Given the description of an element on the screen output the (x, y) to click on. 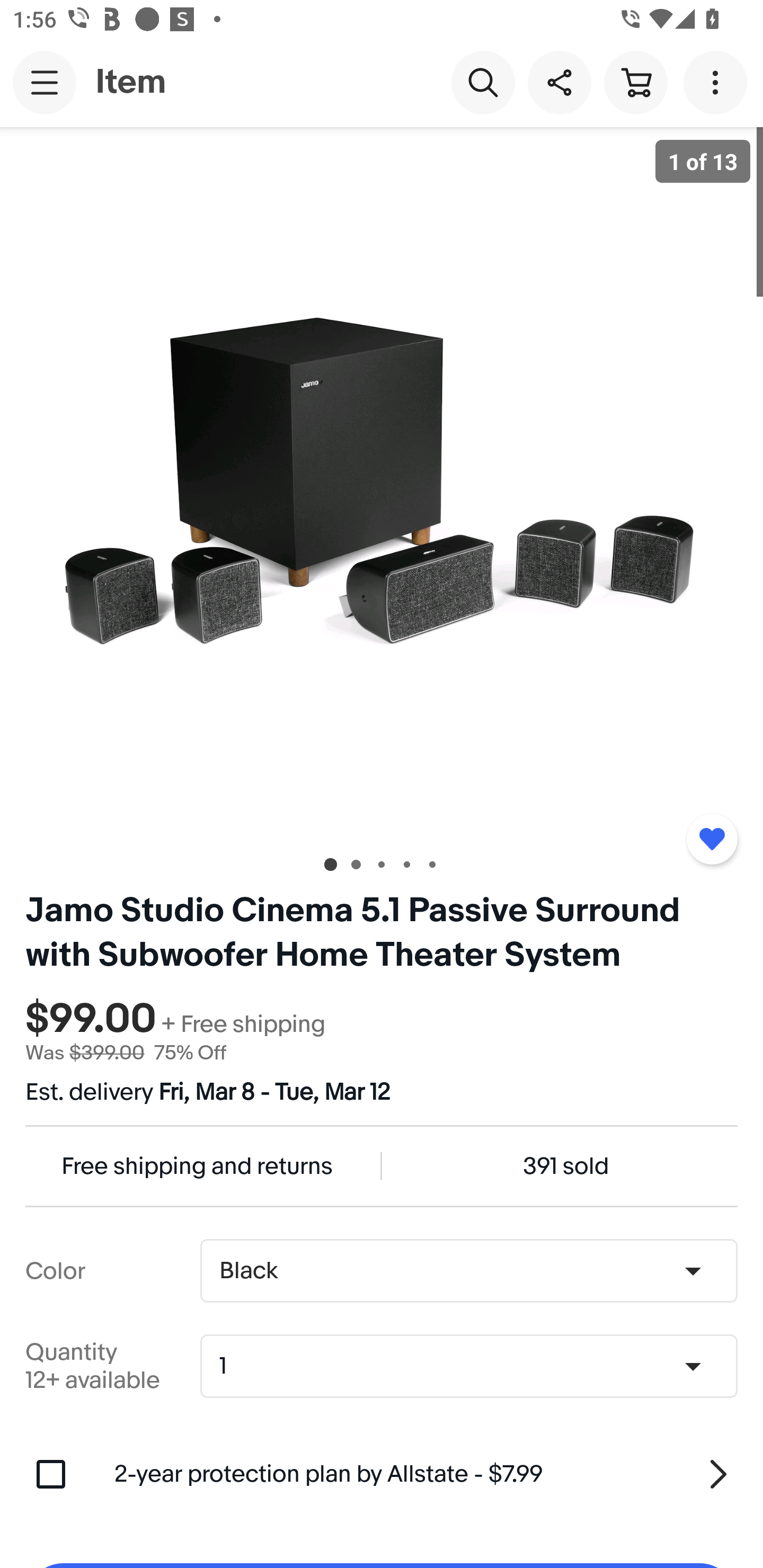
Main navigation, open (44, 82)
Search (482, 81)
Share this item (559, 81)
Cart button shopping cart (635, 81)
More options (718, 81)
Item image 1 of 13 (381, 482)
Added to watchlist (711, 838)
Color,Black Black (468, 1270)
Quantity,1,12+ available 1 (474, 1365)
2-year protection plan by Allstate - $7.99 (425, 1473)
